Given the description of an element on the screen output the (x, y) to click on. 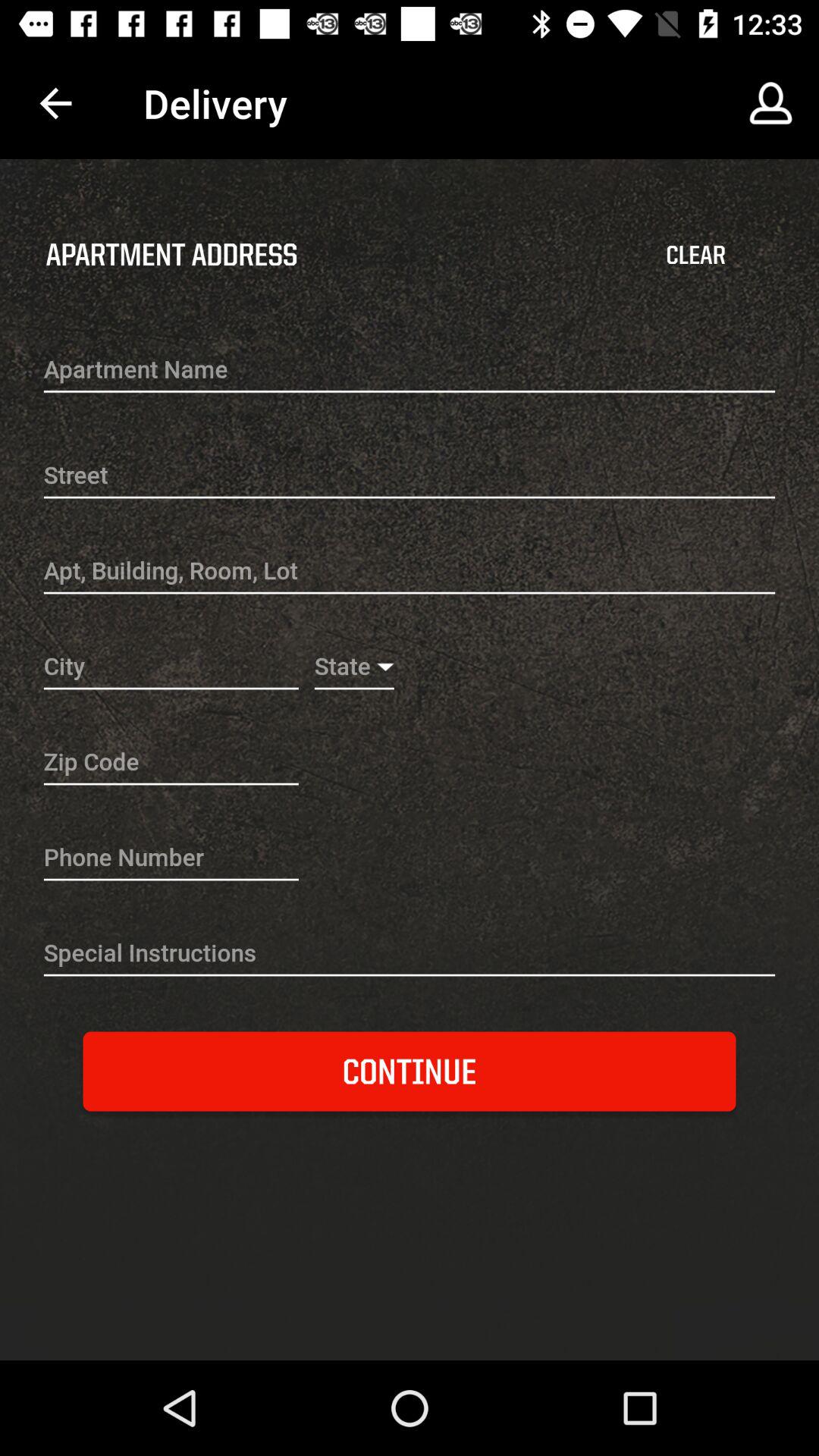
select the item above the apartment address item (55, 103)
